Given the description of an element on the screen output the (x, y) to click on. 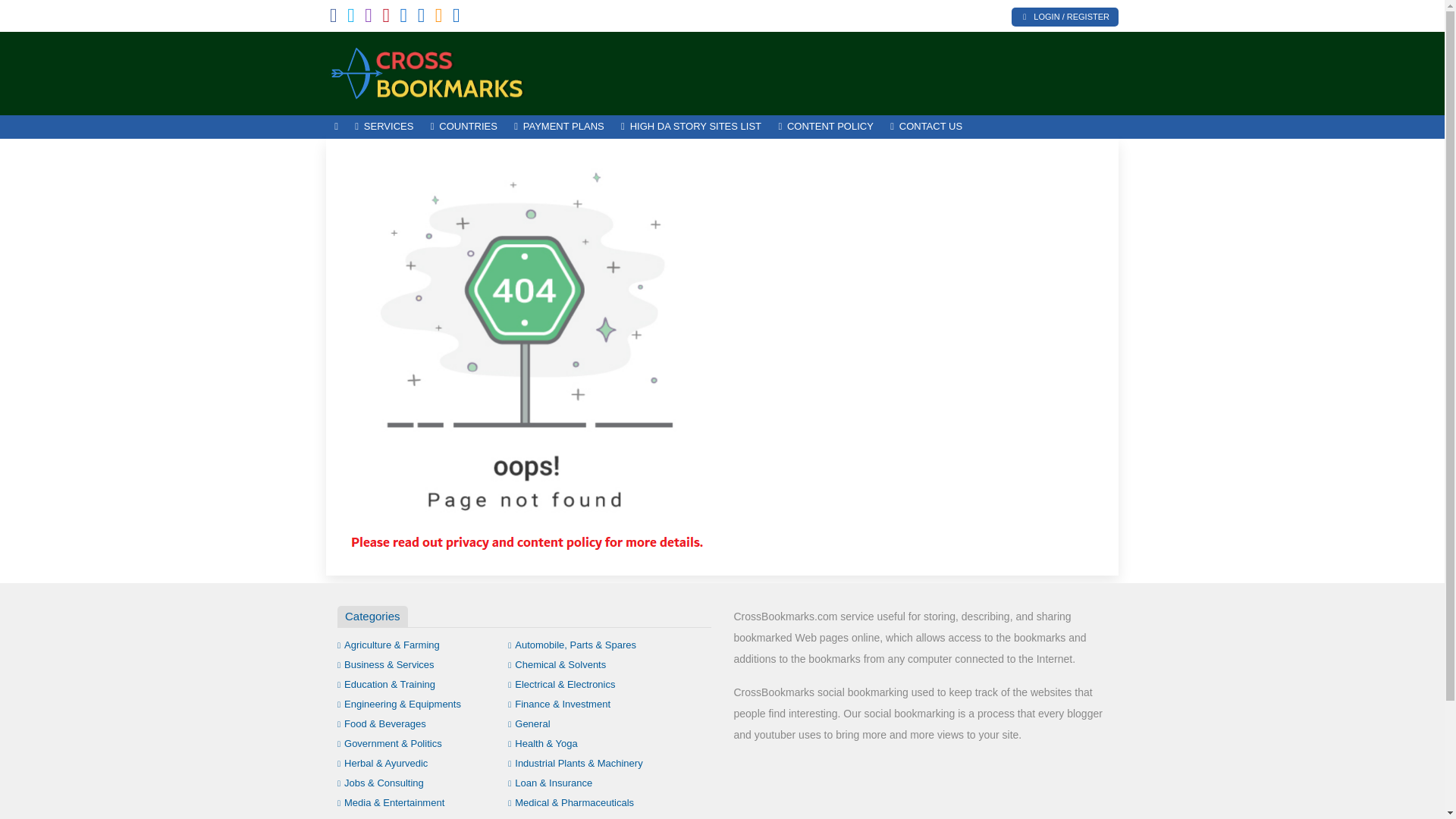
CONTACT US (926, 126)
PAYMENT PLANS (558, 126)
General (529, 723)
SERVICES (384, 126)
CONTENT POLICY (826, 126)
HIGH DA STORY SITES LIST (691, 126)
COUNTRIES (463, 126)
